Given the description of an element on the screen output the (x, y) to click on. 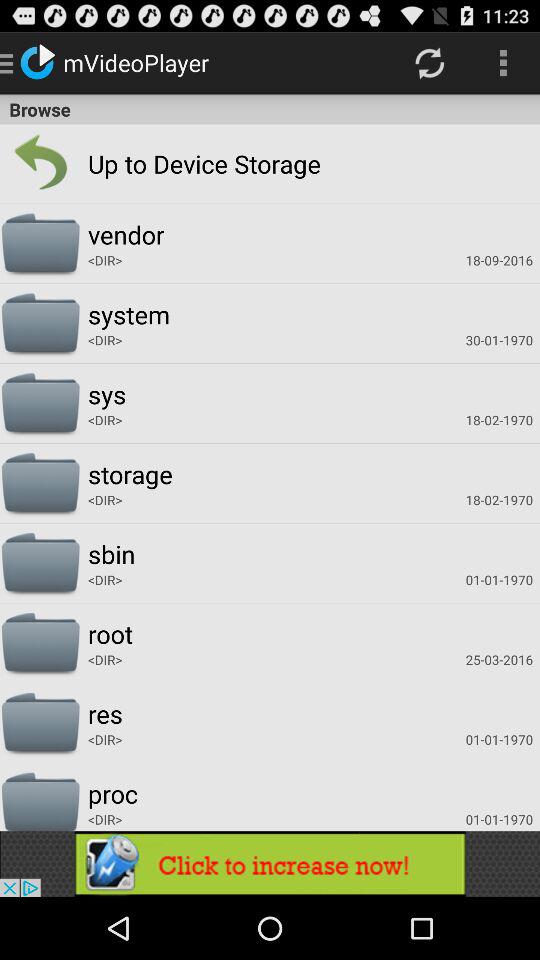
open the item next to up to storage icon (40, 163)
